Given the description of an element on the screen output the (x, y) to click on. 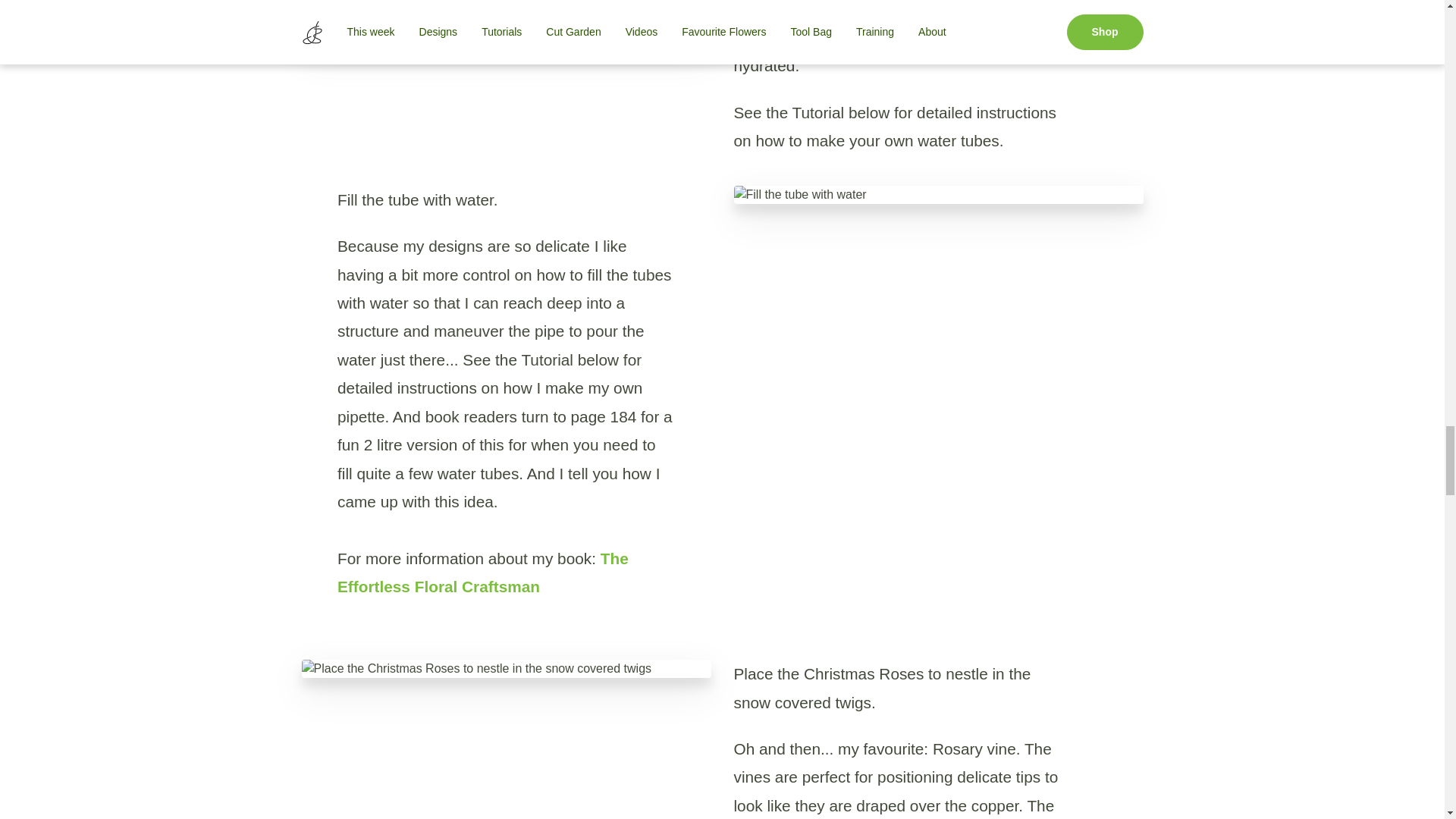
The Effortless Floral Craftsman (482, 572)
